Given the description of an element on the screen output the (x, y) to click on. 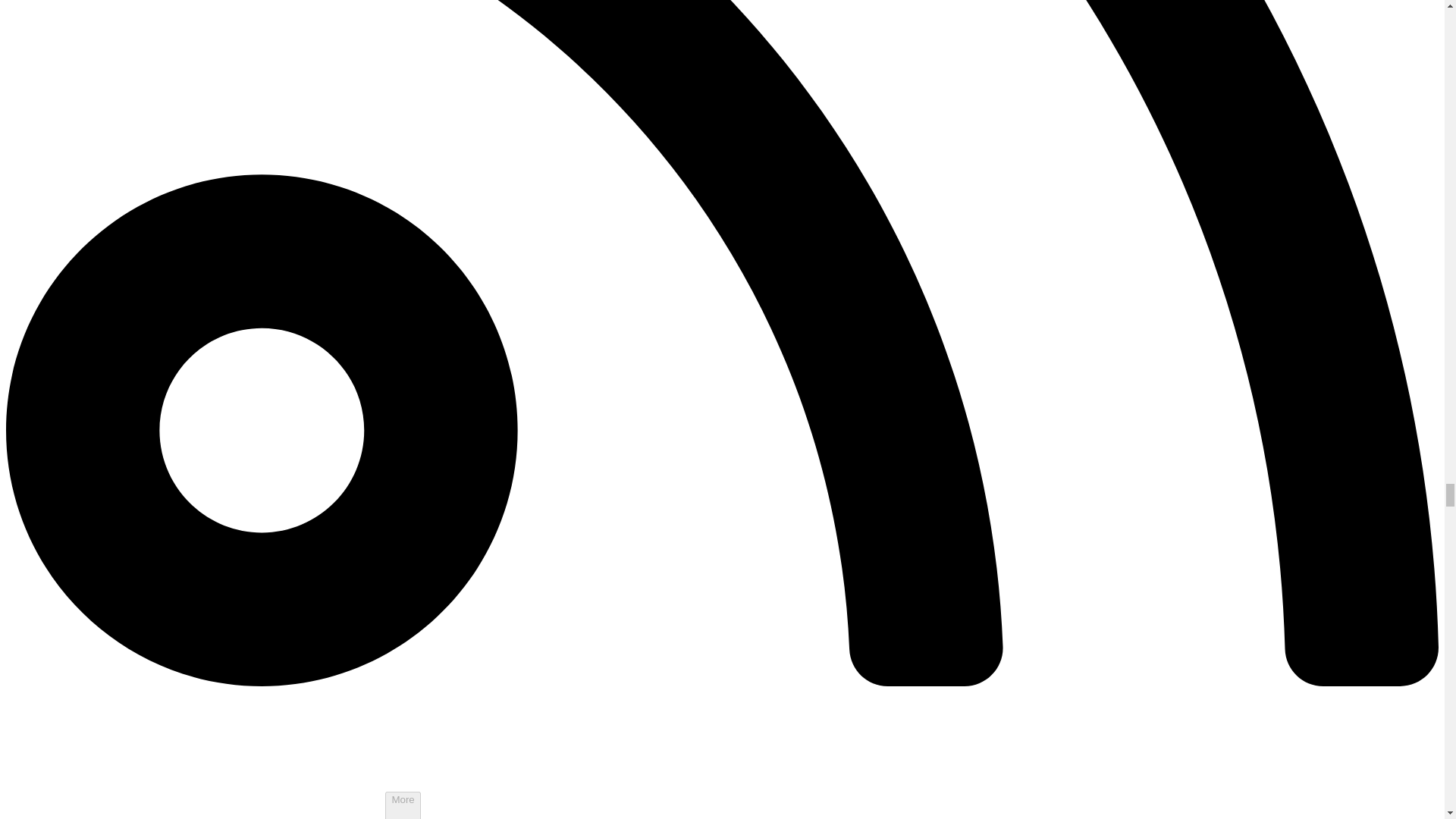
Database (67, 818)
More (402, 805)
System Design (126, 818)
